Given the description of an element on the screen output the (x, y) to click on. 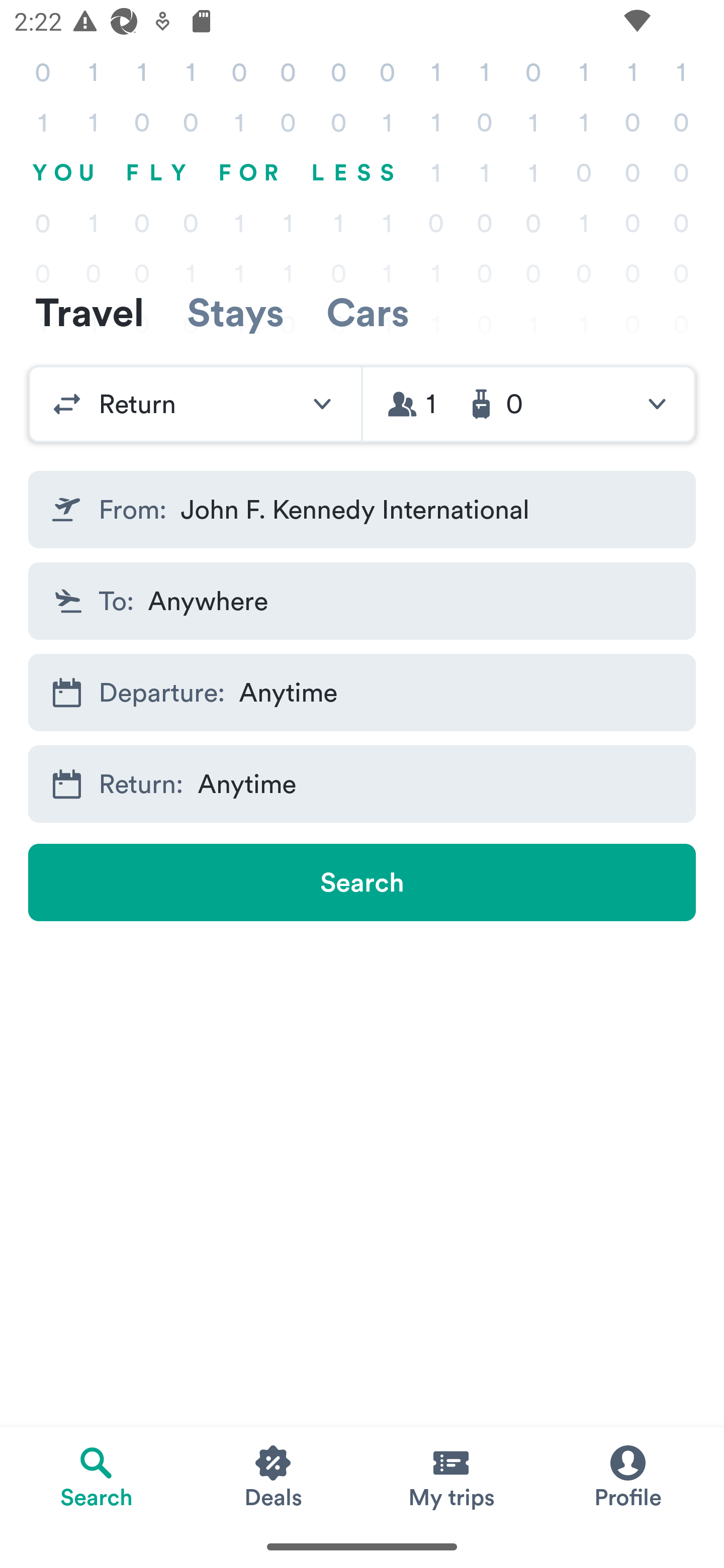
Travel (89, 311)
Stays (235, 311)
Cars (367, 311)
Return (194, 404)
Passengers 1 Bags 0 (528, 404)
From: John F. Kennedy International (361, 509)
To: Anywhere (361, 600)
Departure: Anytime (361, 692)
Return: Anytime (361, 783)
Search (361, 882)
Deals (273, 1475)
My trips (450, 1475)
Profile (627, 1475)
